Given the description of an element on the screen output the (x, y) to click on. 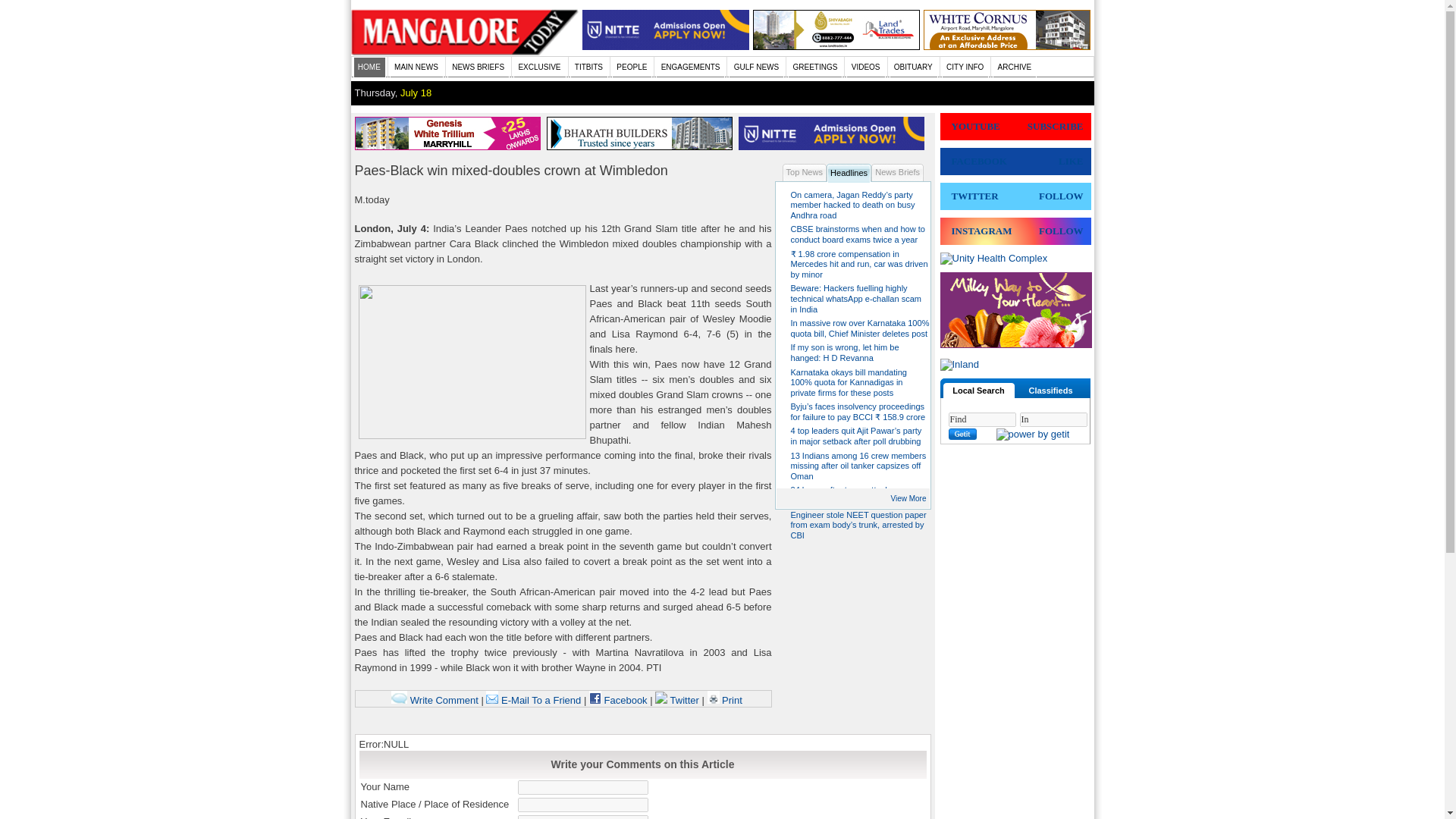
News Briefs (896, 171)
Nitte DU (834, 146)
GULF NEWS (756, 66)
VIDEOS (865, 66)
PEOPLE (631, 66)
Genesis (1006, 46)
Land Trades (835, 46)
Find (980, 419)
CITY INFO (966, 66)
Twitter (678, 699)
Nitte (665, 46)
GREETINGS (815, 66)
Bharath Ashraya (642, 146)
EXCLUSIVE (539, 66)
HOME (369, 66)
